Given the description of an element on the screen output the (x, y) to click on. 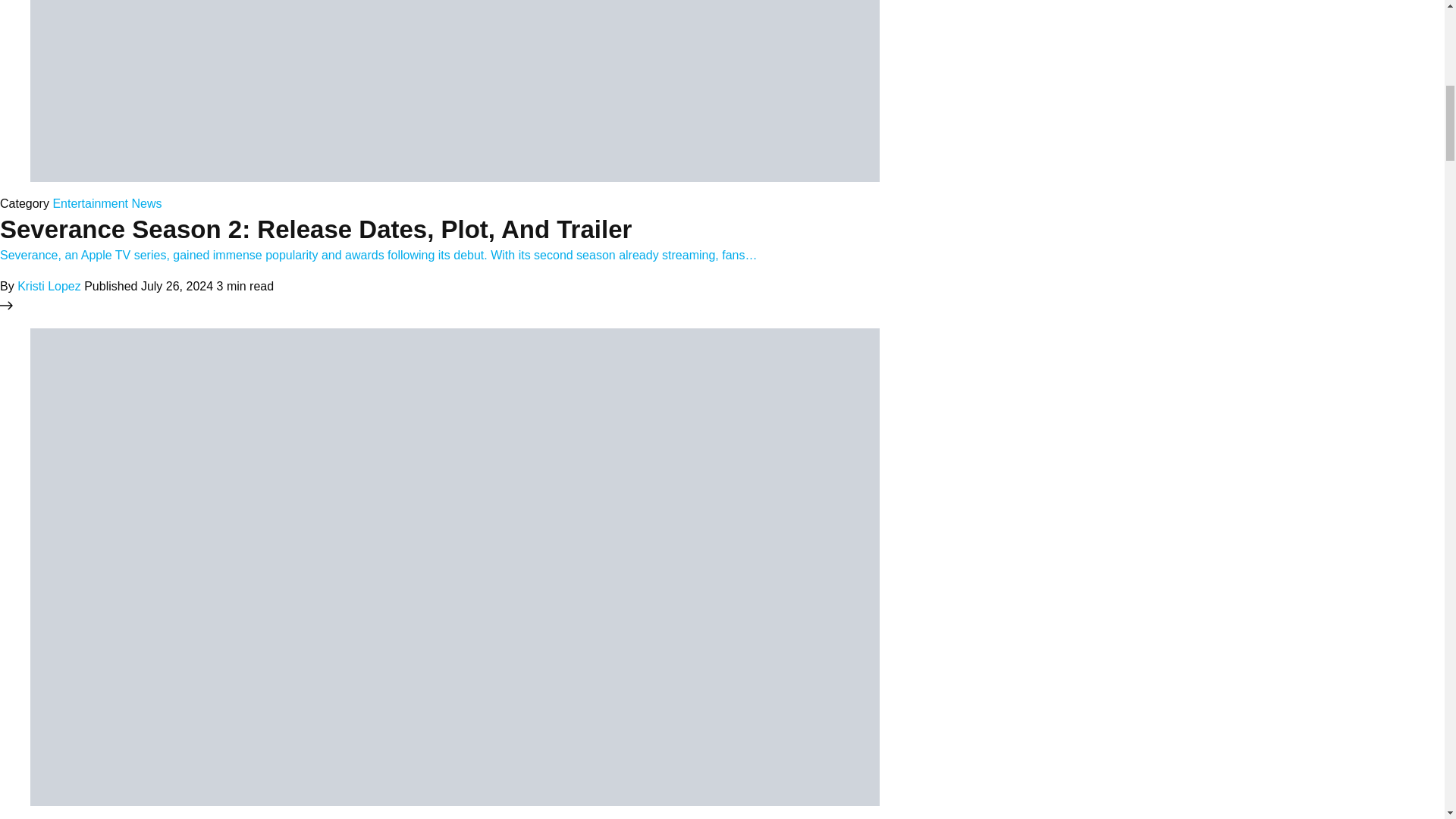
Entertainment (90, 203)
News (146, 203)
Kristi Lopez (49, 286)
